Given the description of an element on the screen output the (x, y) to click on. 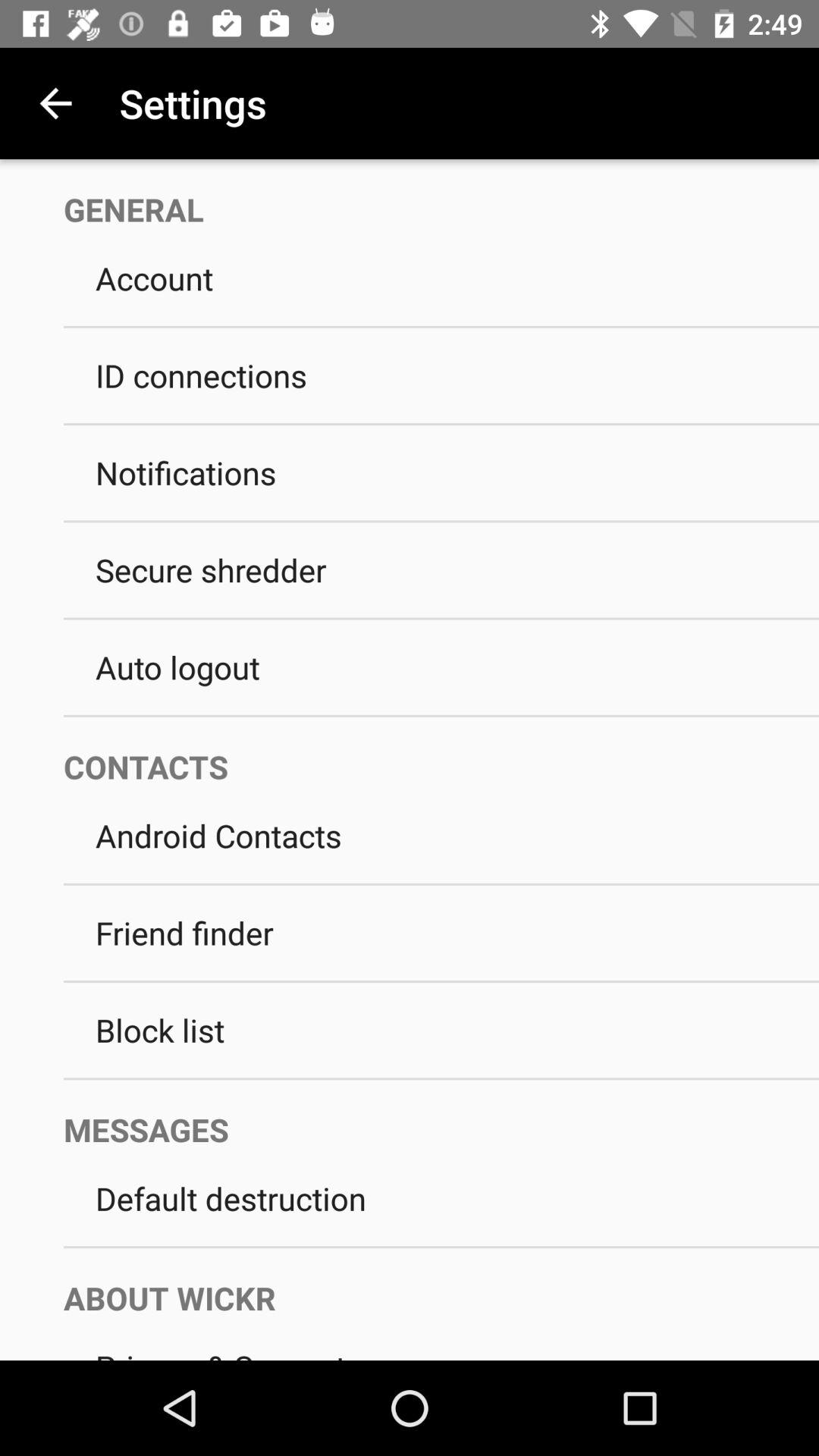
select the id connections item (441, 375)
